Given the description of an element on the screen output the (x, y) to click on. 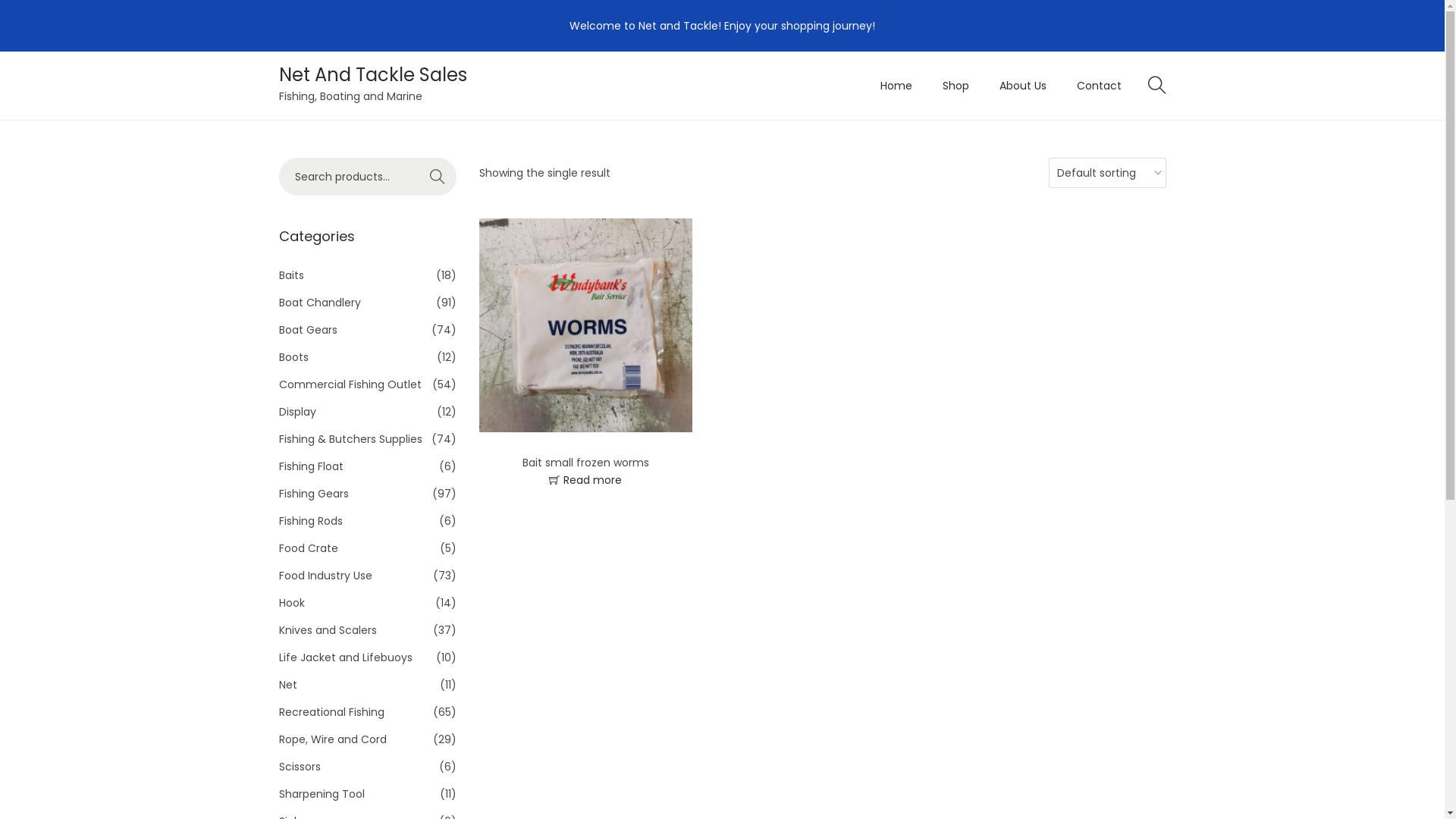
Fishing Float Element type: text (311, 465)
Net Element type: text (288, 684)
Knives and Scalers Element type: text (327, 629)
Shop Element type: text (954, 85)
Skip to navigation Element type: text (279, 84)
Display Element type: text (297, 411)
Net And Tackle Sales Element type: text (373, 74)
Hook Element type: text (291, 602)
Fishing Gears Element type: text (313, 493)
Bait small frozen worms Element type: text (585, 462)
Fishing & Butchers Supplies Element type: text (350, 438)
Rope, Wire and Cord Element type: text (332, 738)
Baits Element type: text (291, 274)
Food Industry Use Element type: text (325, 575)
Scissors Element type: text (299, 766)
Search Element type: text (950, 428)
Contact Element type: text (1098, 85)
Sharpening Tool Element type: text (321, 793)
Boots Element type: text (293, 356)
Life Jacket and Lifebuoys Element type: text (345, 657)
About Us Element type: text (1022, 85)
Search Element type: text (437, 176)
Boat Chandlery Element type: text (319, 302)
Recreational Fishing Element type: text (331, 711)
Commercial Fishing Outlet Element type: text (350, 384)
Boat Gears Element type: text (308, 329)
Read more Element type: text (584, 479)
Food Crate Element type: text (308, 547)
Fishing Rods Element type: text (310, 520)
Home Element type: text (895, 85)
